Given the description of an element on the screen output the (x, y) to click on. 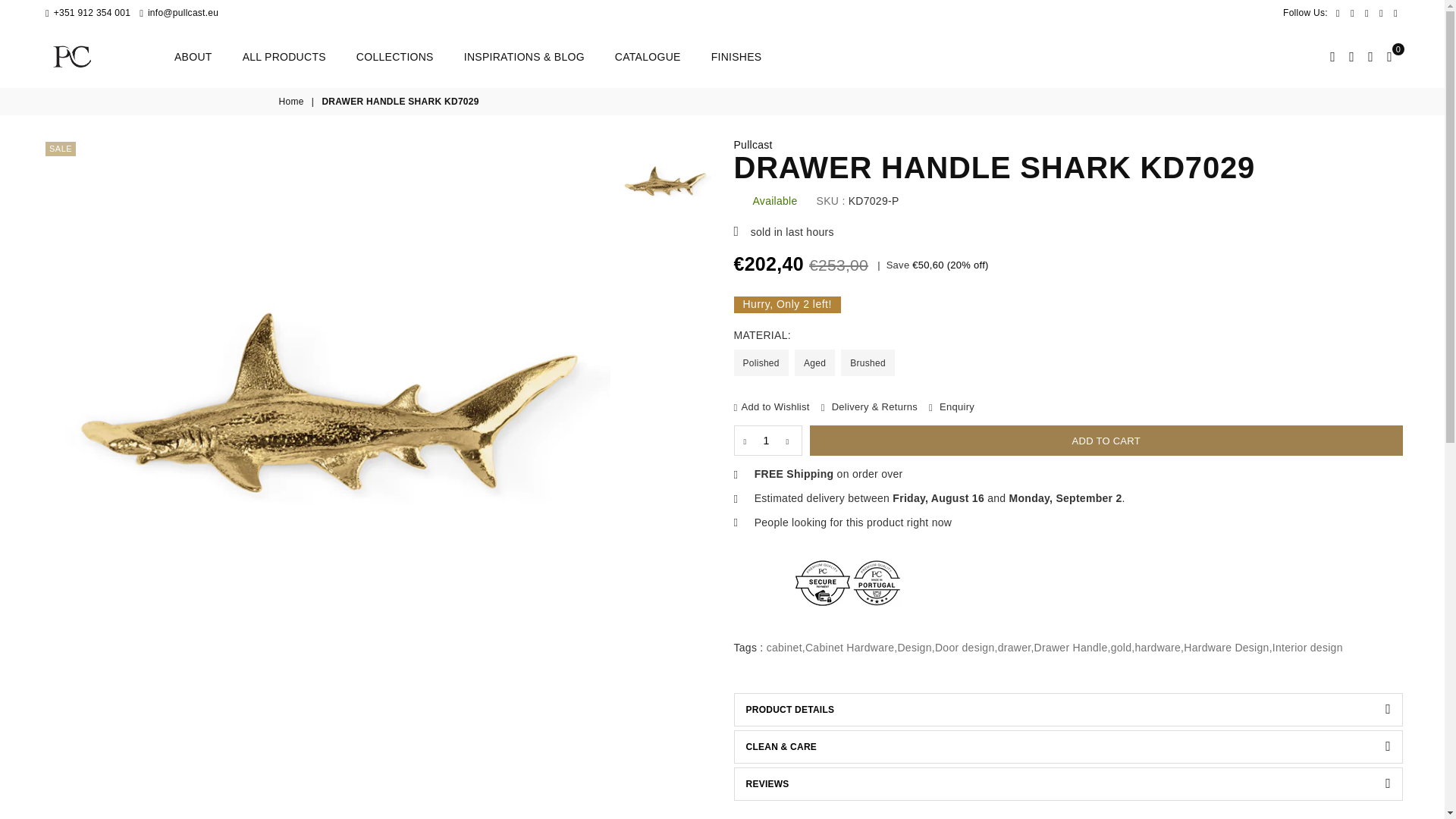
PullCast Shop (109, 56)
PullCast Shop on Twitter (1352, 13)
Quantity (767, 440)
Pullcast (753, 144)
PullCast Shop on YouTube (1396, 13)
Twitter (1352, 13)
PullCast Shop on Pinterest (1366, 13)
COLLECTIONS (394, 56)
PullCast Shop on Instagram (1381, 13)
ABOUT (193, 56)
PullCast Shop on Facebook (1337, 13)
YouTube (1396, 13)
ALL PRODUCTS (284, 56)
FINISHES (736, 56)
CATALOGUE (647, 56)
